Given the description of an element on the screen output the (x, y) to click on. 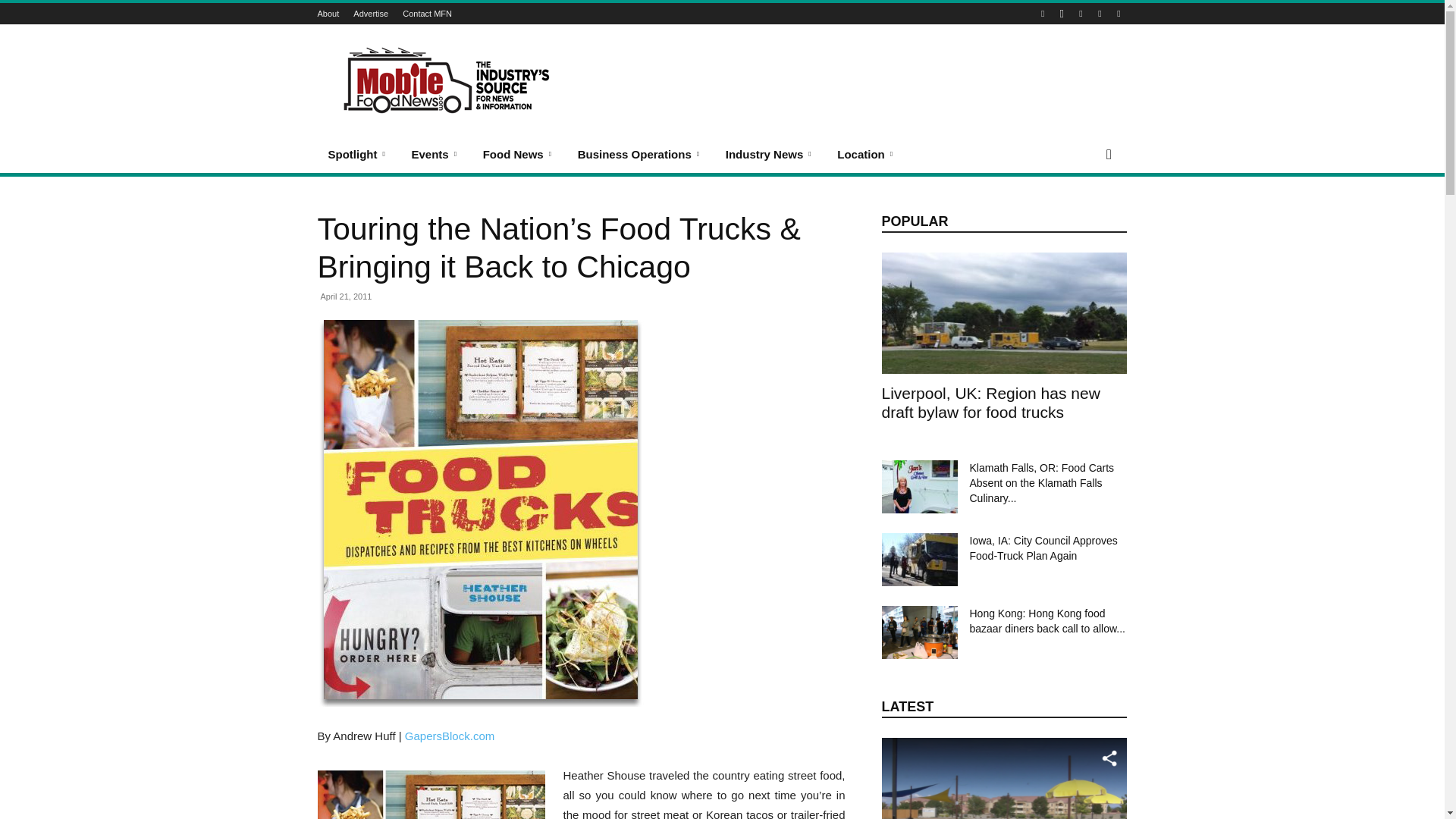
About (328, 13)
Advertise (370, 13)
Contact MFN (427, 13)
